Given the description of an element on the screen output the (x, y) to click on. 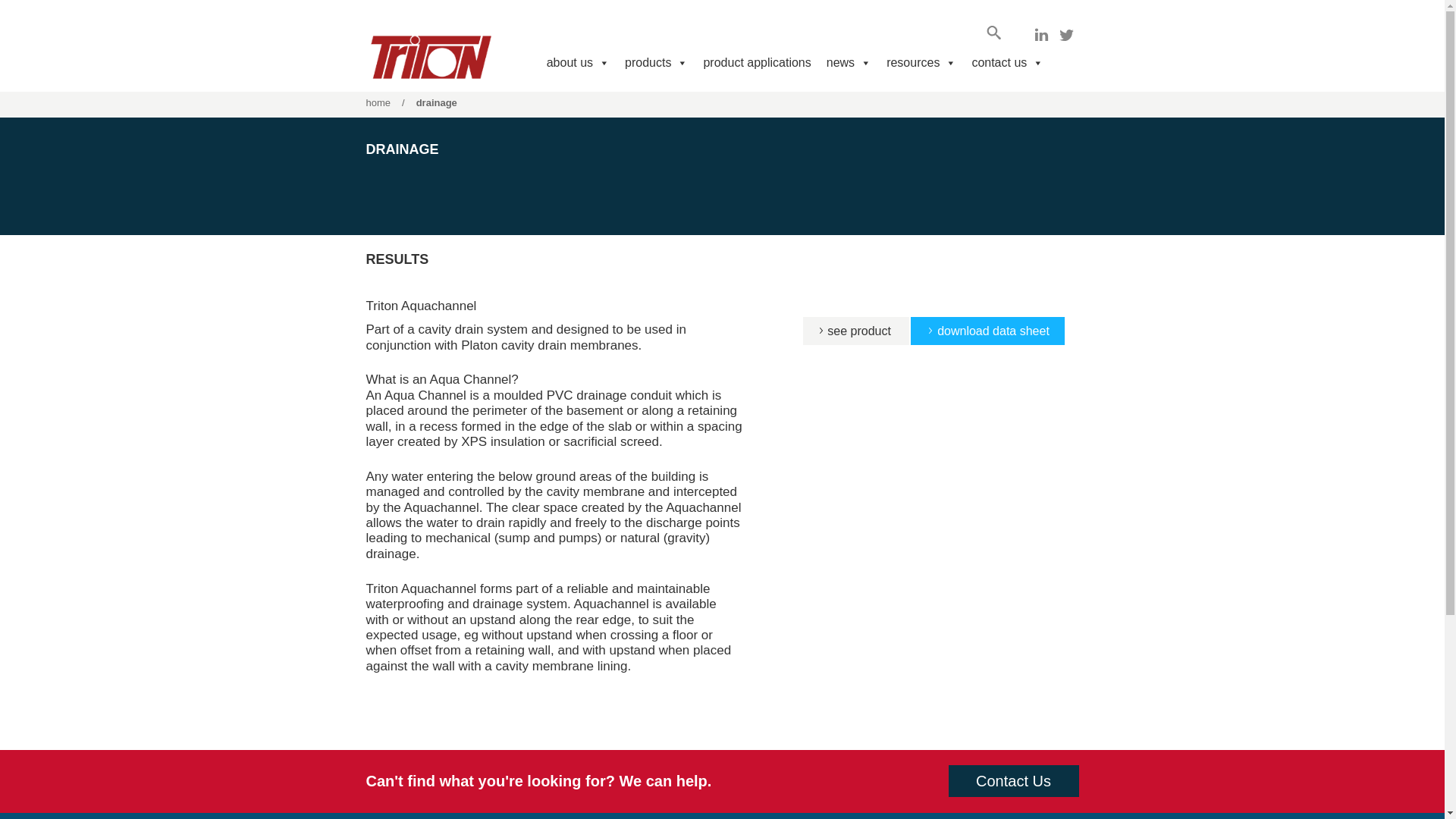
products (656, 62)
Search efter: (990, 32)
Search (25, 9)
Triton Aquachannel (420, 305)
product applications (756, 62)
Triton Aquachannel (852, 330)
news (848, 62)
resources (921, 62)
Triton Aquachannel (987, 330)
about us (577, 62)
Home (377, 102)
